Given the description of an element on the screen output the (x, y) to click on. 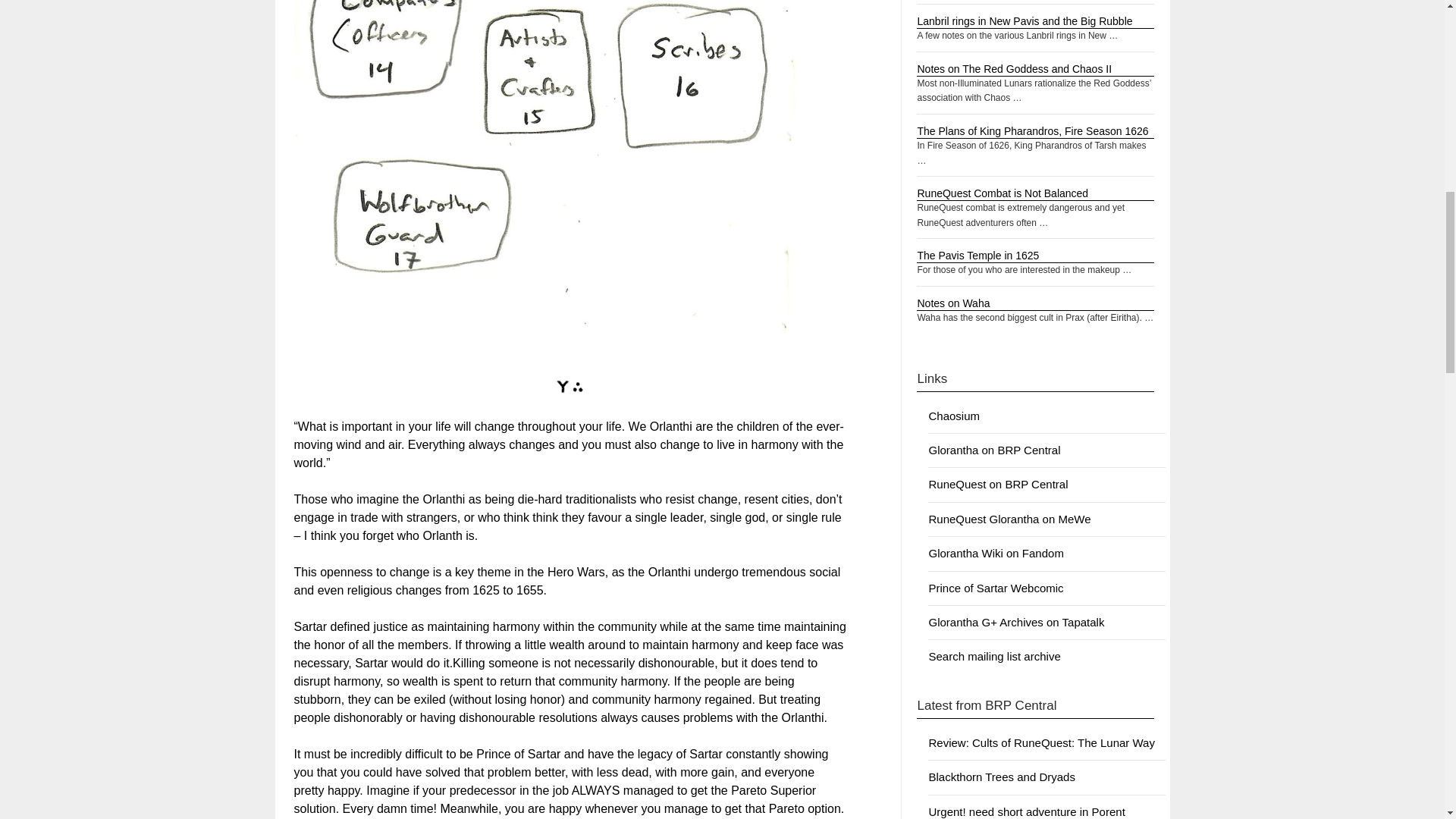
RuneQuest on BRP Central (997, 483)
Glorantha Wiki on Fandom (995, 553)
The Pavis Temple in 1625 (978, 255)
Blackthorn Trees and Dryads (1001, 776)
Prince of Sartar Webcomic (995, 587)
Notes on Waha (953, 303)
RuneQuest Glorantha on MeWe (1009, 518)
Review: Cults of RuneQuest: The Lunar Way (1041, 742)
Glorantha on BRP Central (993, 449)
Lanbril rings in New Pavis and the Big Rubble (1024, 21)
The Plans of King Pharandros, Fire Season 1626 (1032, 131)
Chaosium (953, 415)
RuneQuest Combat is Not Balanced (1002, 193)
Search mailing list archive (993, 656)
Notes on The Red Goddess and Chaos II (1014, 69)
